Given the description of an element on the screen output the (x, y) to click on. 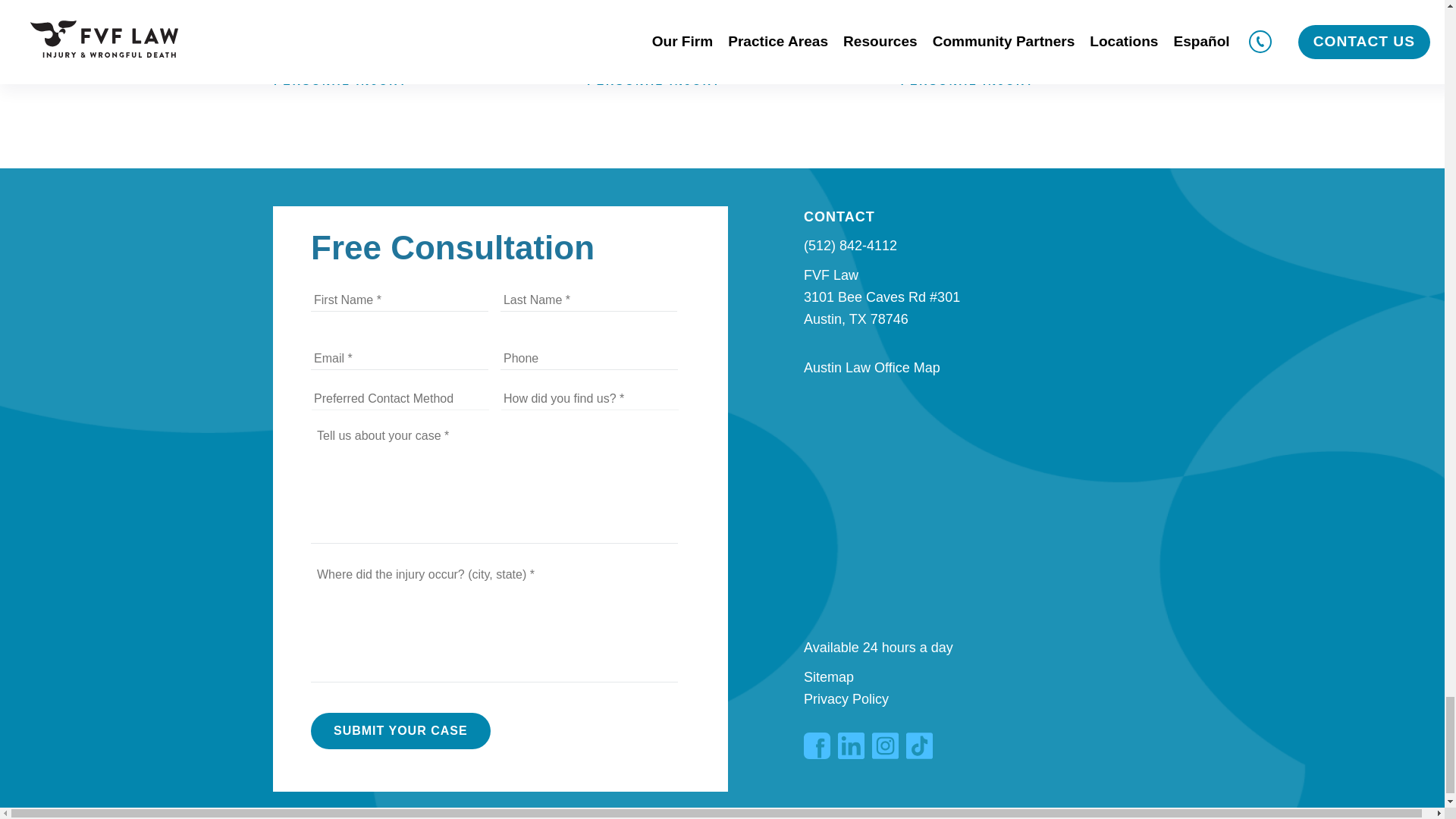
Submit Your Case (400, 730)
